Given the description of an element on the screen output the (x, y) to click on. 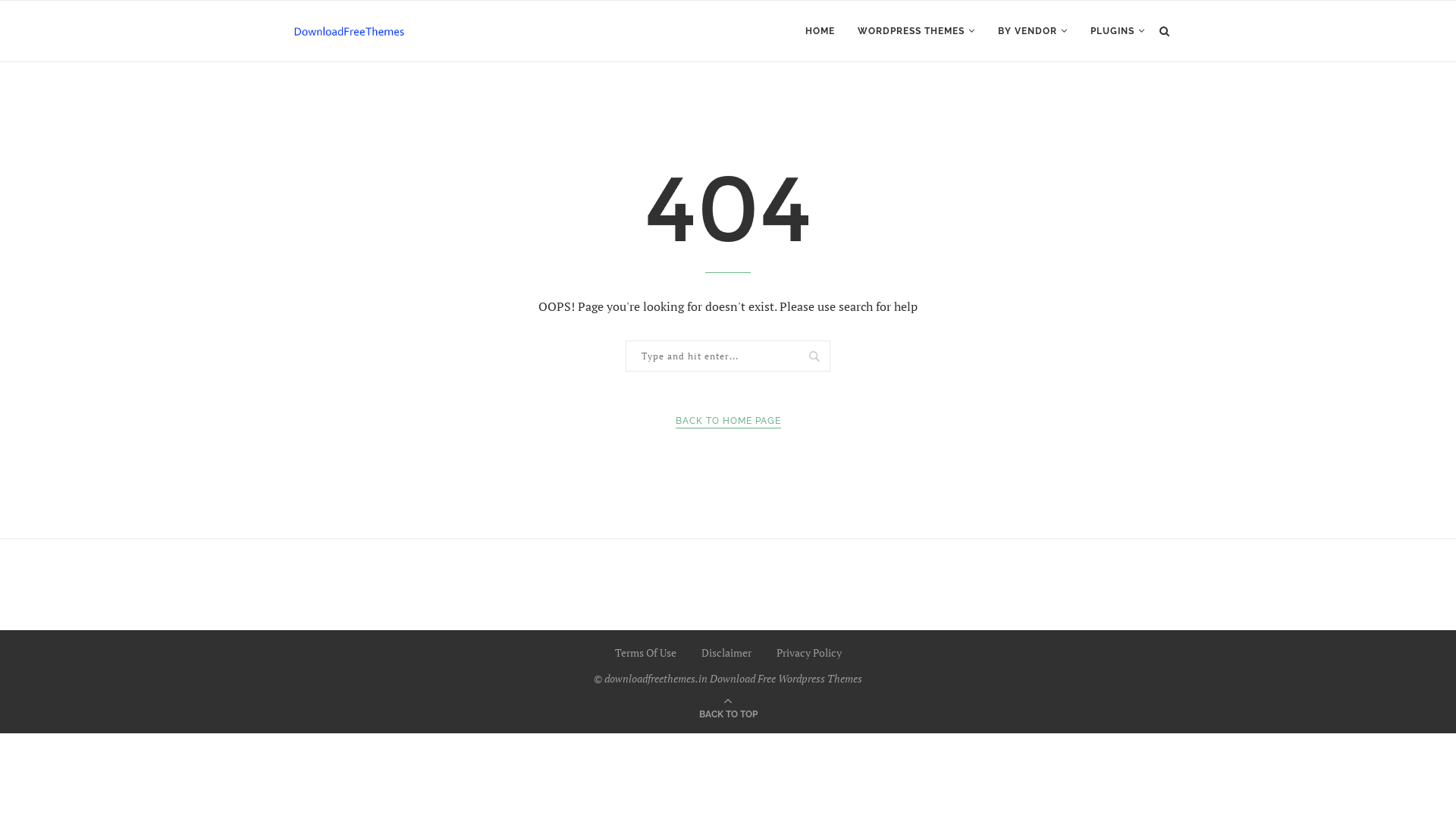
Privacy Policy Element type: text (808, 652)
BACK TO HOME PAGE Element type: text (727, 421)
HOME Element type: text (819, 30)
Disclaimer Element type: text (725, 652)
Terms Of Use Element type: text (644, 652)
BY VENDOR Element type: text (1032, 30)
WORDPRESS THEMES Element type: text (916, 30)
BACK TO TOP Element type: text (728, 713)
PLUGINS Element type: text (1117, 30)
